Given the description of an element on the screen output the (x, y) to click on. 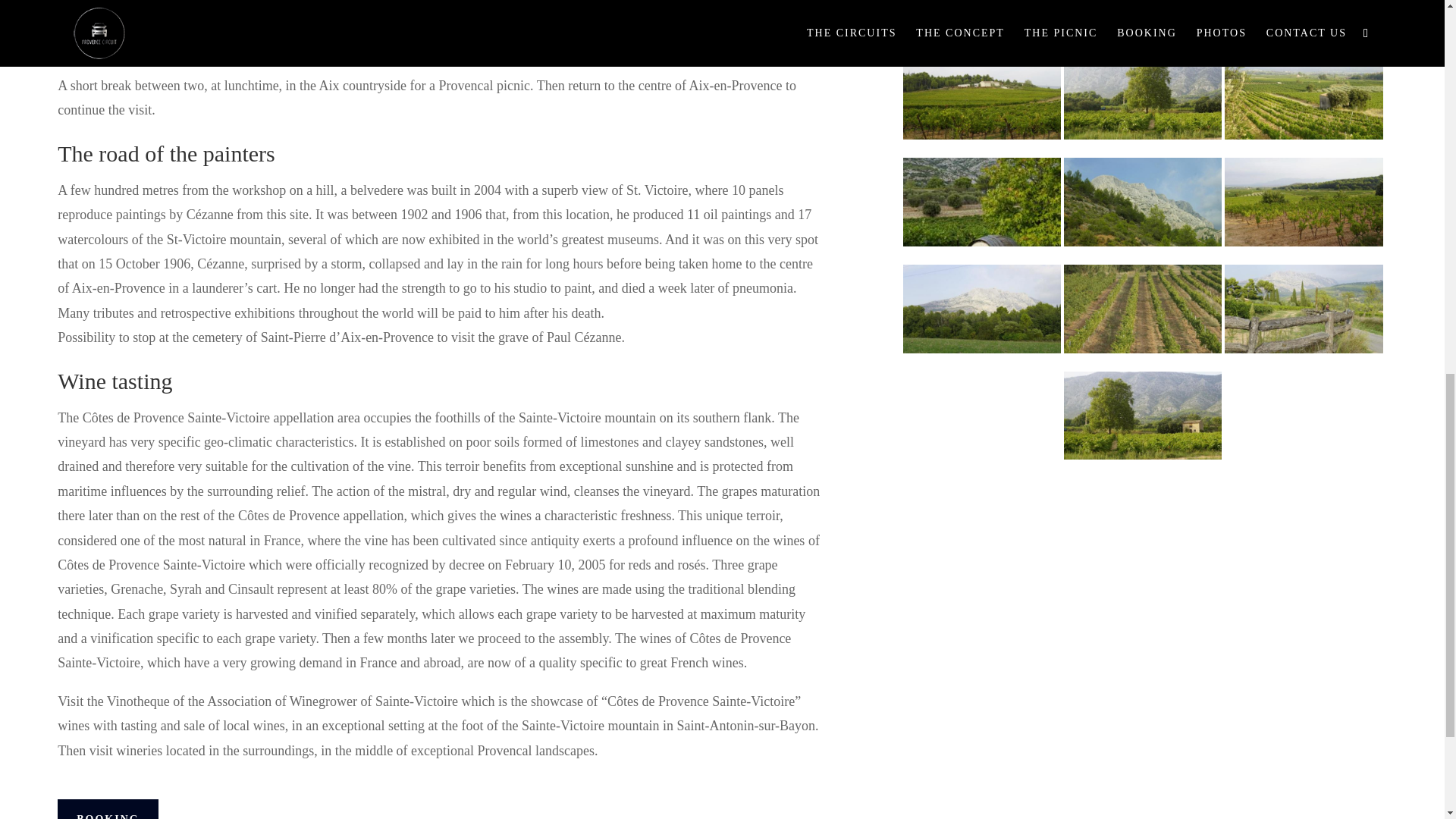
 DSC4519-min (981, 95)
 DSC4572-min (981, 16)
BOOKING (107, 809)
 DSC4523-min (1142, 16)
 DSC4474-min (1142, 95)
